Given the description of an element on the screen output the (x, y) to click on. 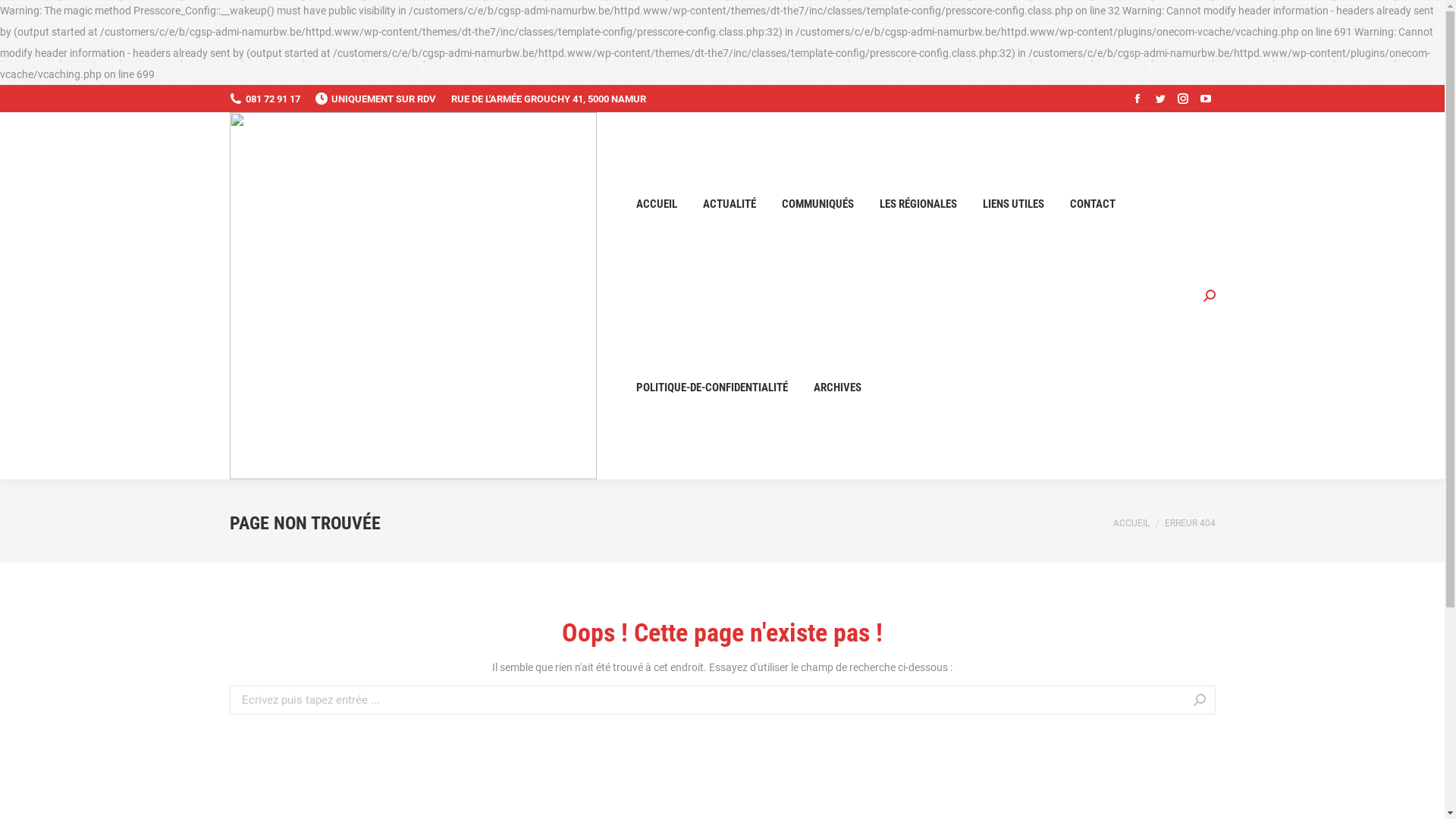
LIENS UTILES Element type: text (1013, 203)
Instagram page opens in new window Element type: text (1182, 98)
ACCUEIL Element type: text (1131, 522)
ACCUEIL Element type: text (655, 203)
Aller ! Element type: text (1241, 701)
CONTACT Element type: text (1091, 203)
ARCHIVES Element type: text (836, 387)
Facebook page opens in new window Element type: text (1136, 98)
Aller ! Element type: text (26, 15)
YouTube page opens in new window Element type: text (1204, 98)
Twitter page opens in new window Element type: text (1159, 98)
